Given the description of an element on the screen output the (x, y) to click on. 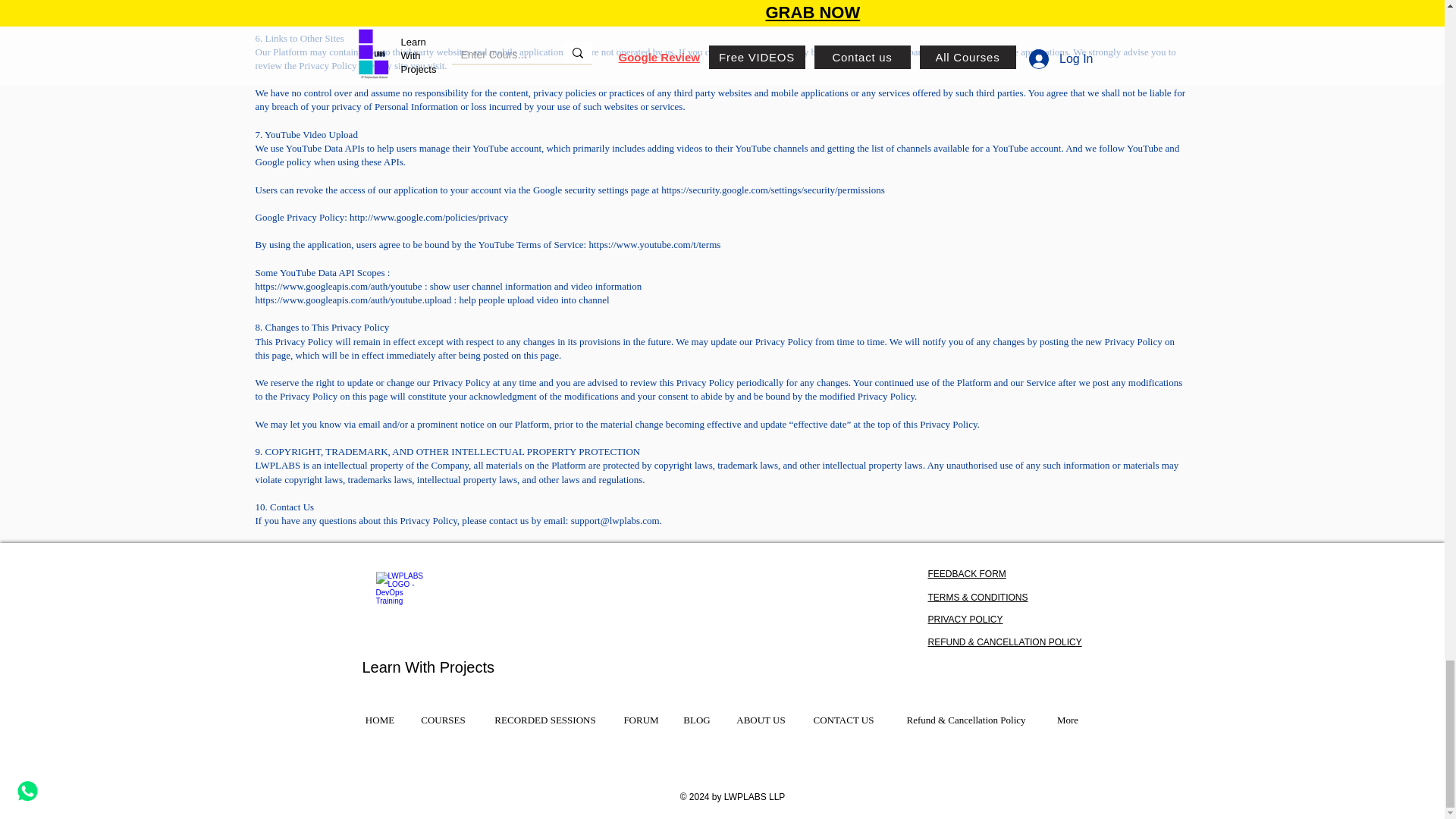
PRIVACY POLICY (965, 619)
FORUM (640, 719)
Learn With Projects (428, 667)
FEEDBACK FORM (967, 573)
BLOG (696, 719)
CONTACT US (842, 719)
ABOUT US (761, 719)
COURSES (443, 719)
RECORDED SESSIONS (544, 719)
HOME (380, 719)
